Given the description of an element on the screen output the (x, y) to click on. 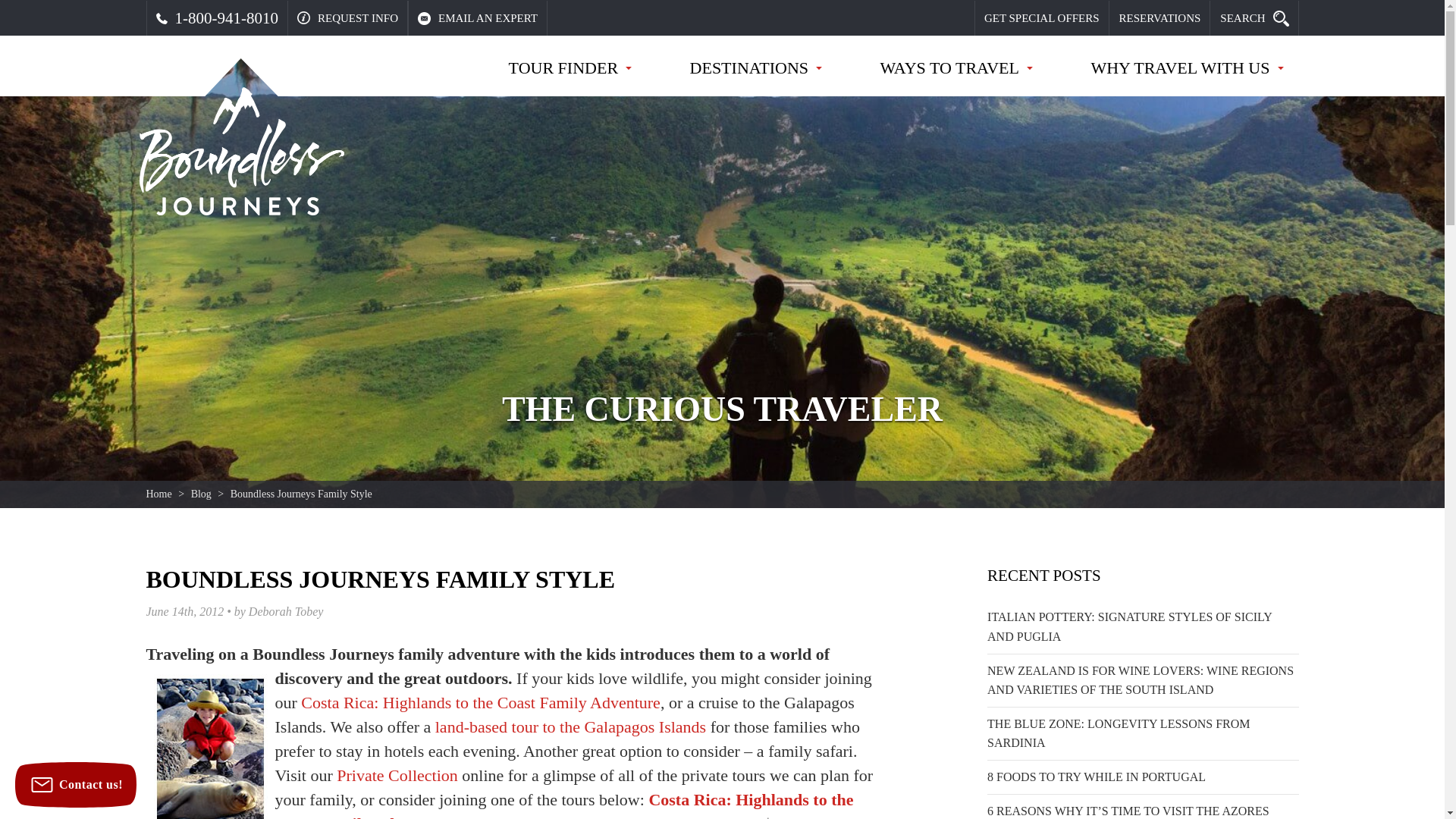
Return to the Blog Homepage (200, 493)
DESTINATIONS (755, 75)
Get Special Offers (1041, 18)
Email an Expert (478, 18)
Search (1254, 18)
REQUEST INFO (347, 18)
TOUR FINDER (569, 75)
Boundless Journeys (241, 151)
Reservations (1159, 18)
EMAIL AN EXPERT (478, 18)
Boundless Journeys (241, 151)
1-800-941-8010 (216, 18)
Request More Information (347, 18)
